Given the description of an element on the screen output the (x, y) to click on. 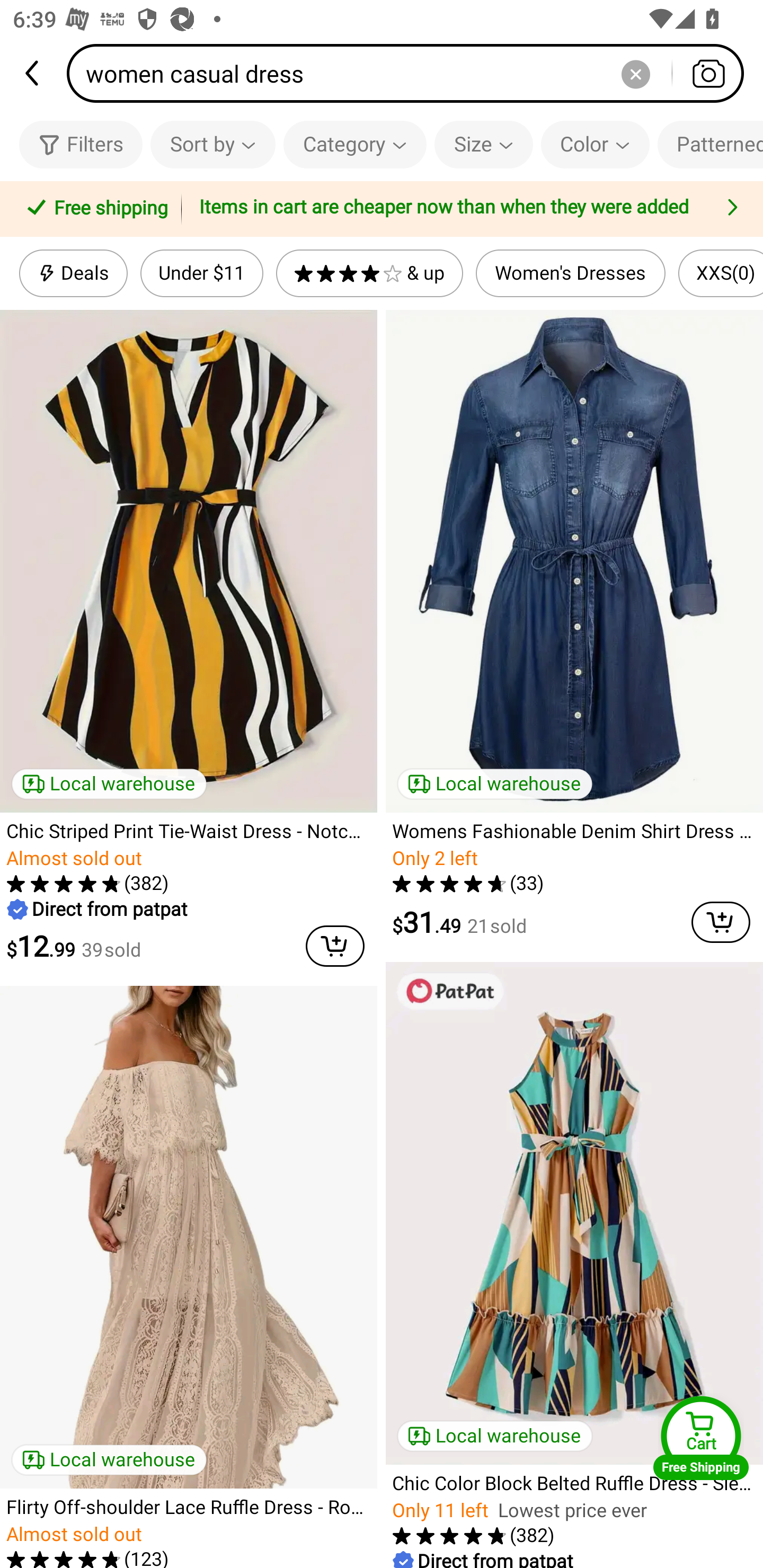
back (33, 72)
women casual dress (411, 73)
Delete search history (635, 73)
Search by photo (708, 73)
Filters (80, 143)
Sort by (212, 143)
Category (354, 143)
Size (483, 143)
Color (594, 143)
Patterned (710, 143)
 Free shipping (93, 208)
Deals (73, 273)
Under $11 (201, 273)
& up (369, 273)
Women's Dresses (570, 273)
XXS(0) (720, 273)
cart delete (720, 921)
cart delete (334, 946)
Cart Free Shipping Cart (701, 1437)
